Given the description of an element on the screen output the (x, y) to click on. 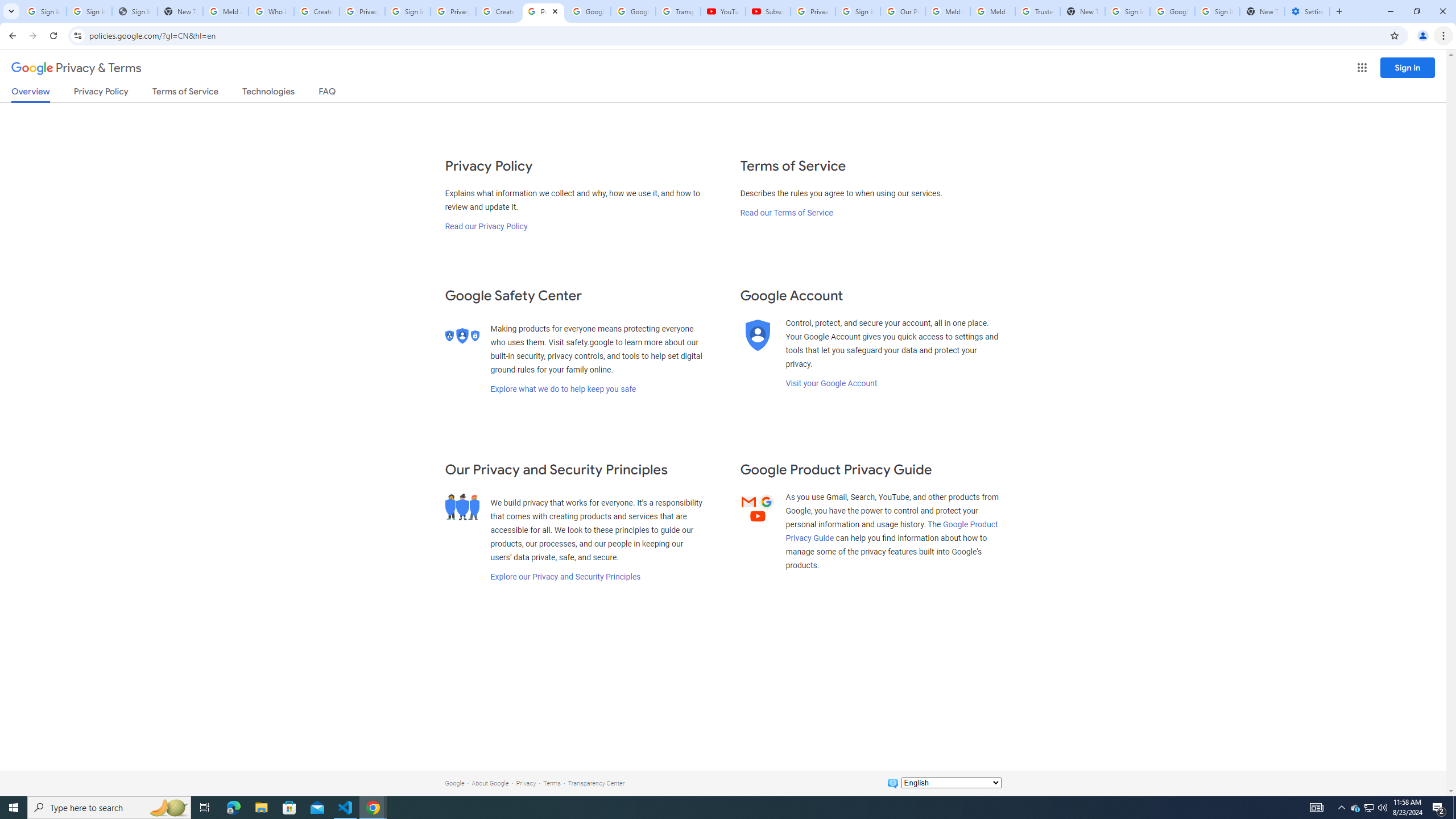
Sign in - Google Accounts (1216, 11)
Subscriptions - YouTube (767, 11)
Visit your Google Account (830, 383)
Sign in - Google Accounts (407, 11)
Sign in - Google Accounts (857, 11)
YouTube (723, 11)
Change language: (951, 782)
Google Account (633, 11)
Explore our Privacy and Security Principles (565, 576)
